Given the description of an element on the screen output the (x, y) to click on. 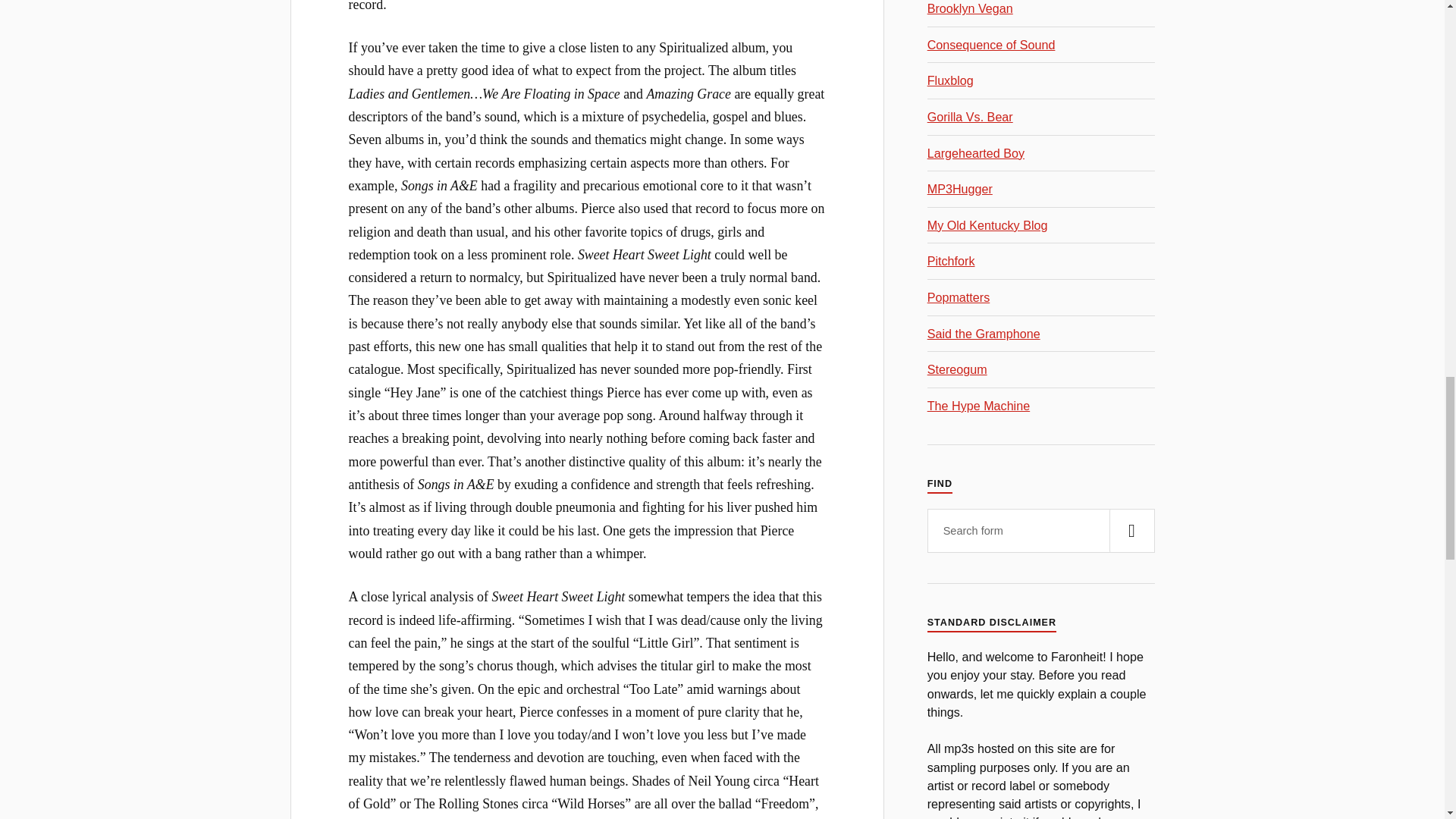
Said the Gramphone (984, 333)
Pitchfork (951, 260)
My Old Kentucky Blog (987, 224)
The first-ever music blog (950, 79)
Brooklyn Vegan (970, 8)
The Hype Machine (978, 405)
Stream songs and check out music blogs (978, 405)
Chew on this (957, 368)
The bear would totally win (970, 116)
Links and downloads galore (976, 152)
